Given the description of an element on the screen output the (x, y) to click on. 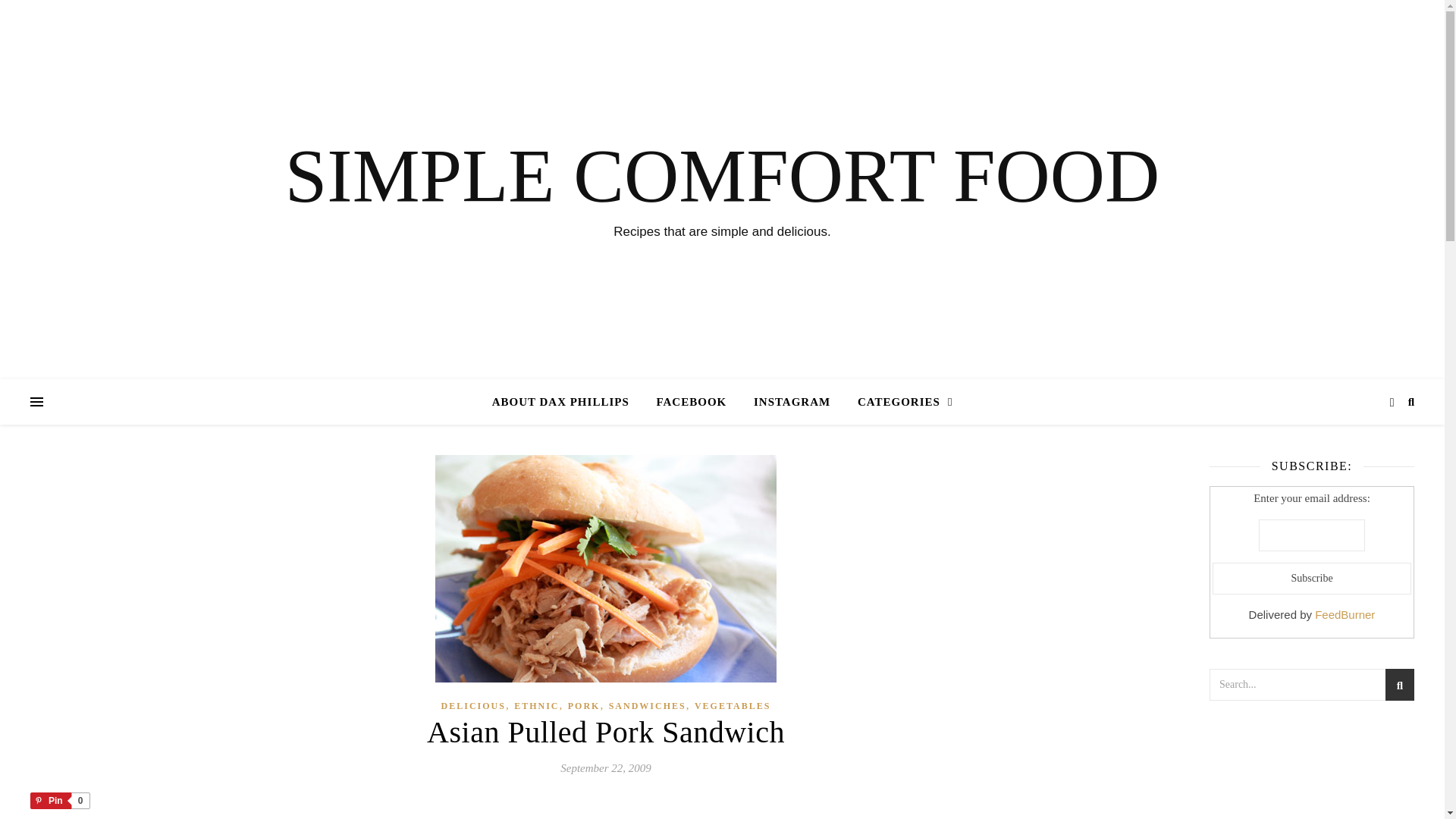
CATEGORIES (898, 402)
Share on Pinterest (59, 800)
FACEBOOK (690, 402)
INSTAGRAM (792, 402)
Subscribe (1311, 578)
Instagram (792, 402)
ABOUT DAX PHILLIPS (567, 402)
Facebook (690, 402)
Advertisement (1311, 775)
